Given the description of an element on the screen output the (x, y) to click on. 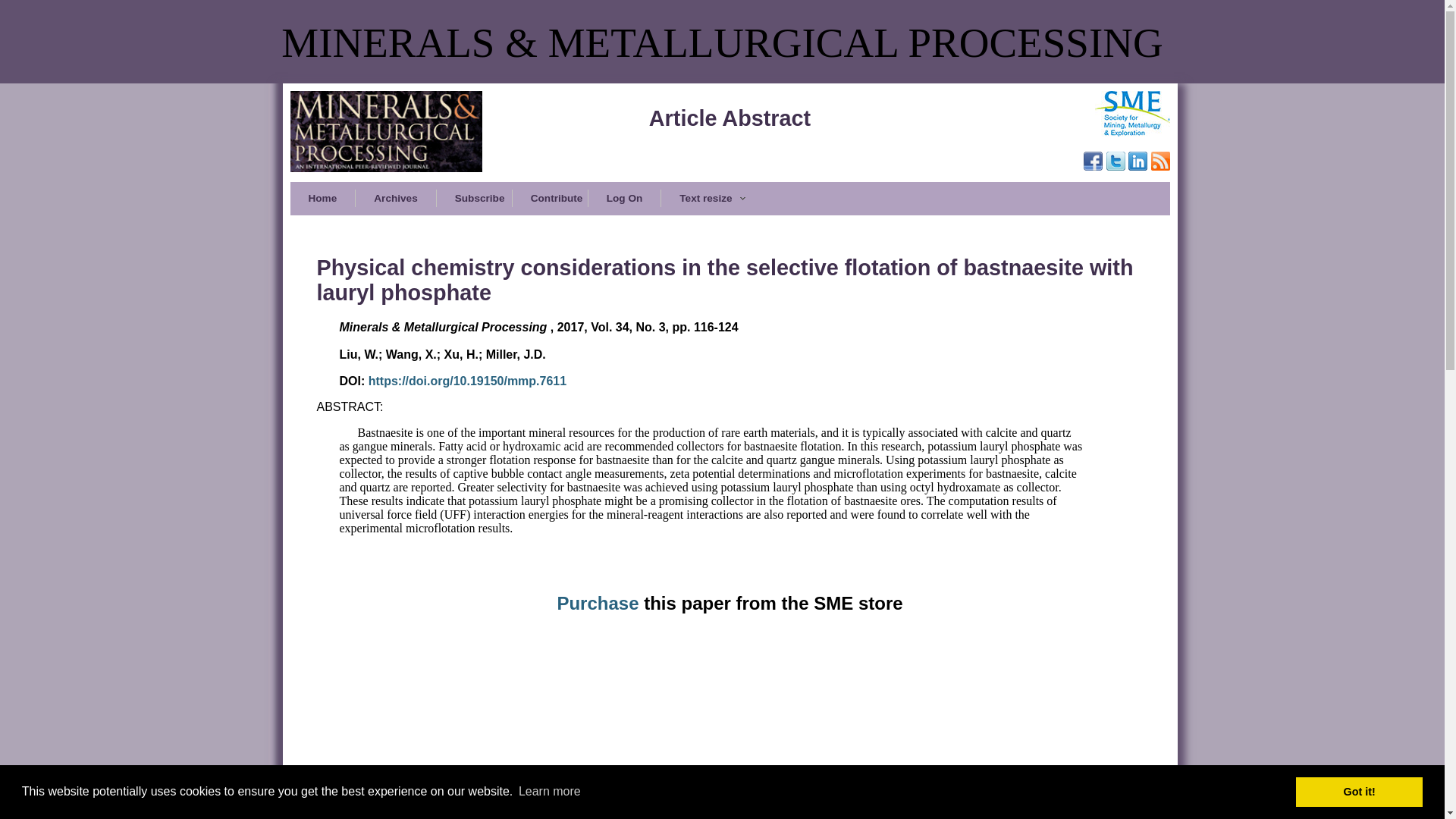
Subscribe (473, 198)
Contribute (550, 198)
Archives (395, 198)
Text resizeSubmenu collapsed. Click to expand submenu. (711, 198)
Purchase (599, 602)
Home (322, 198)
Got it! (1358, 791)
Learn more (549, 791)
Log On (624, 198)
